Given the description of an element on the screen output the (x, y) to click on. 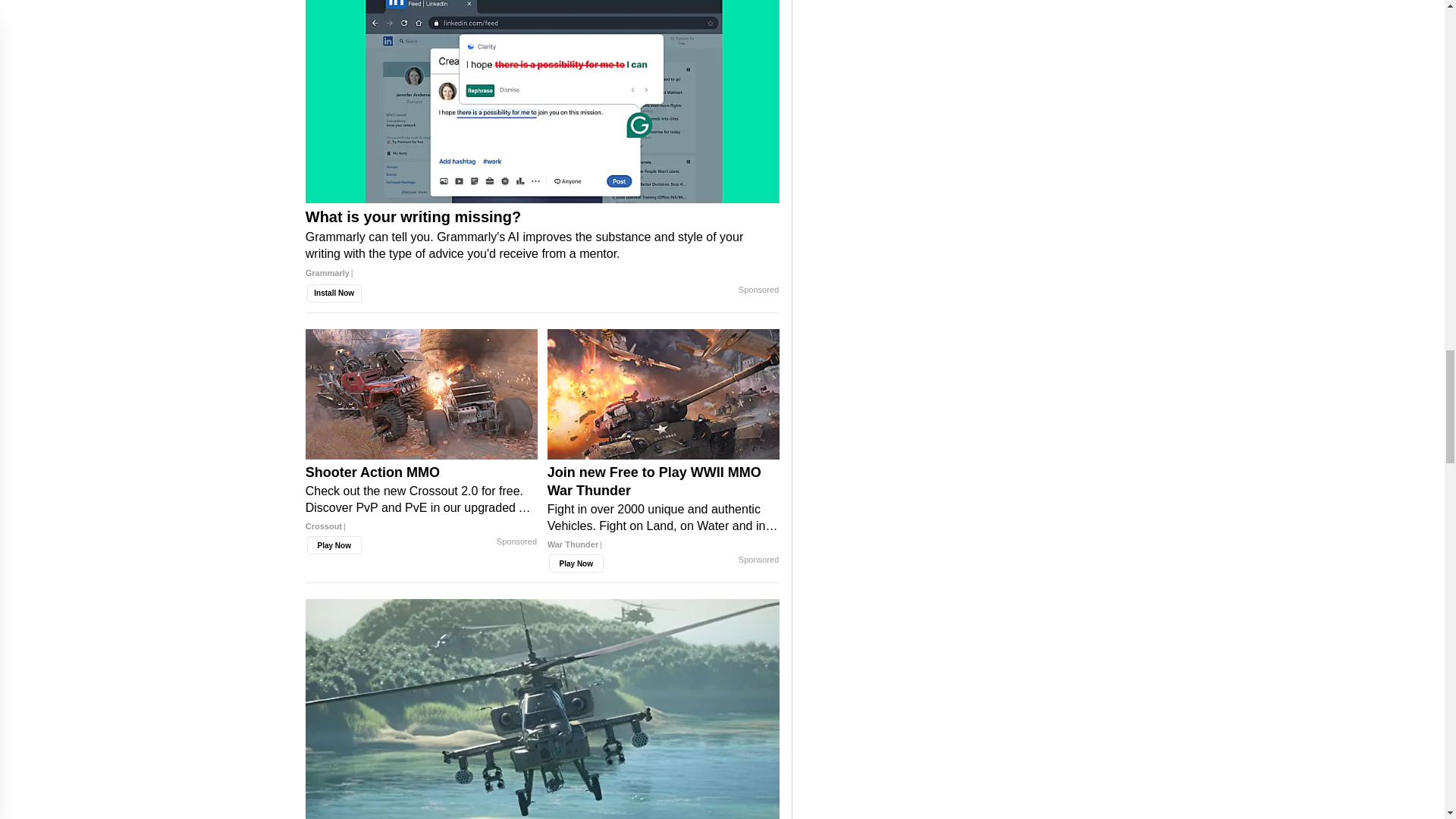
What is your writing missing? (541, 250)
What is your writing missing? (541, 101)
